Given the description of an element on the screen output the (x, y) to click on. 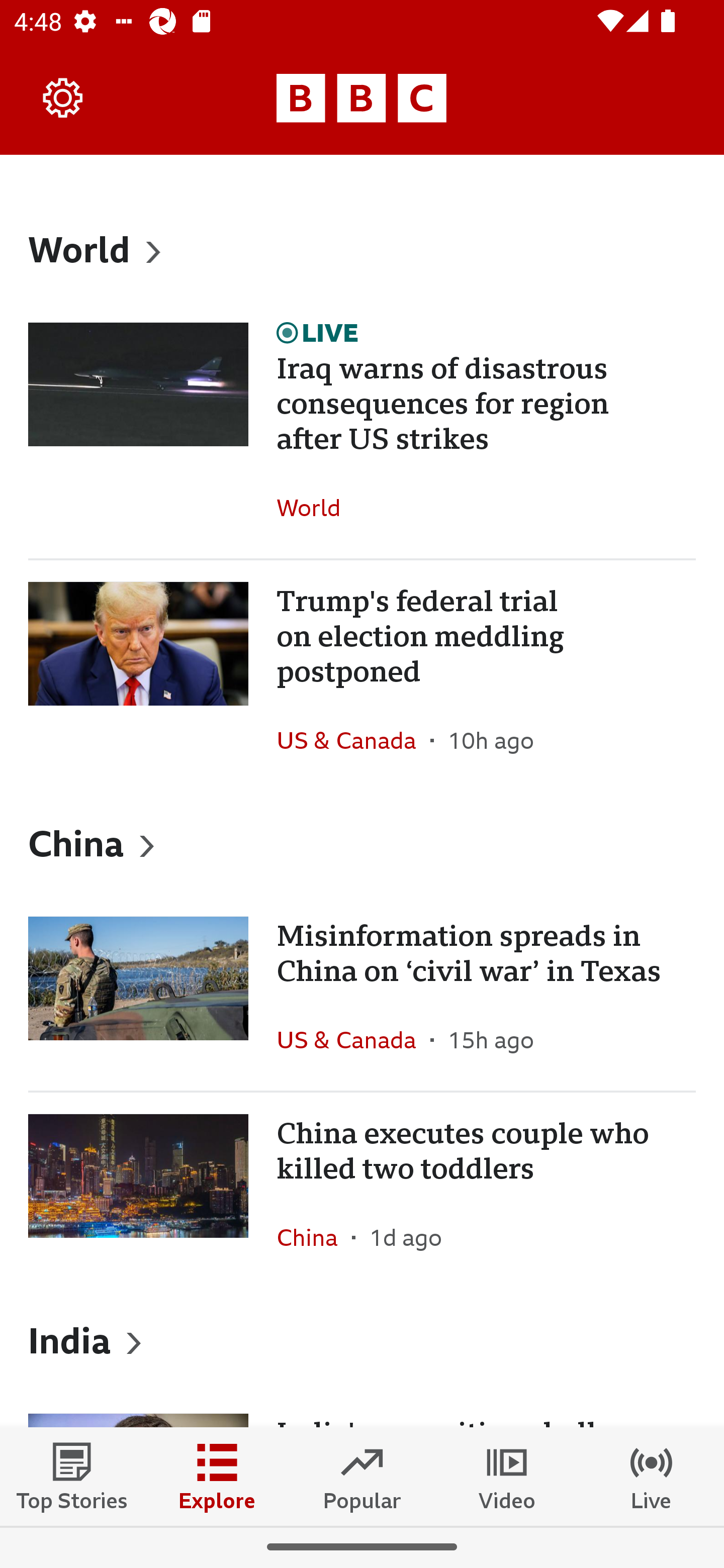
Settings (63, 97)
World, Heading World    (361, 249)
World In the section World (315, 507)
US & Canada In the section US & Canada (353, 739)
China, Heading China    (361, 842)
US & Canada In the section US & Canada (353, 1040)
China In the section China (313, 1236)
India, Heading India    (361, 1339)
Top Stories (72, 1475)
Popular (361, 1475)
Video (506, 1475)
Live (651, 1475)
